Given the description of an element on the screen output the (x, y) to click on. 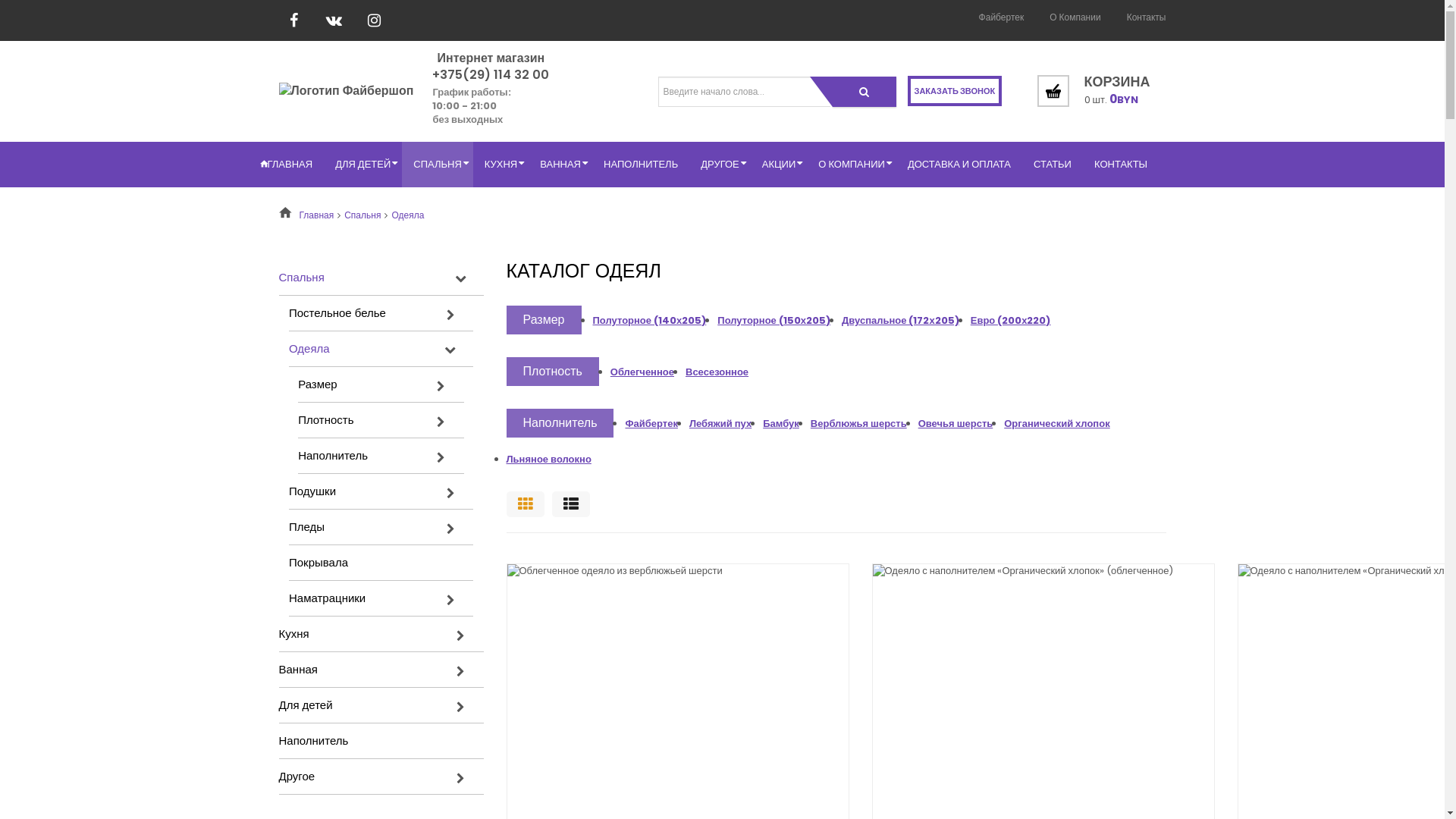
Facebook Element type: hover (294, 20)
Vk Element type: hover (333, 20)
Instagram Element type: hover (374, 20)
